Given the description of an element on the screen output the (x, y) to click on. 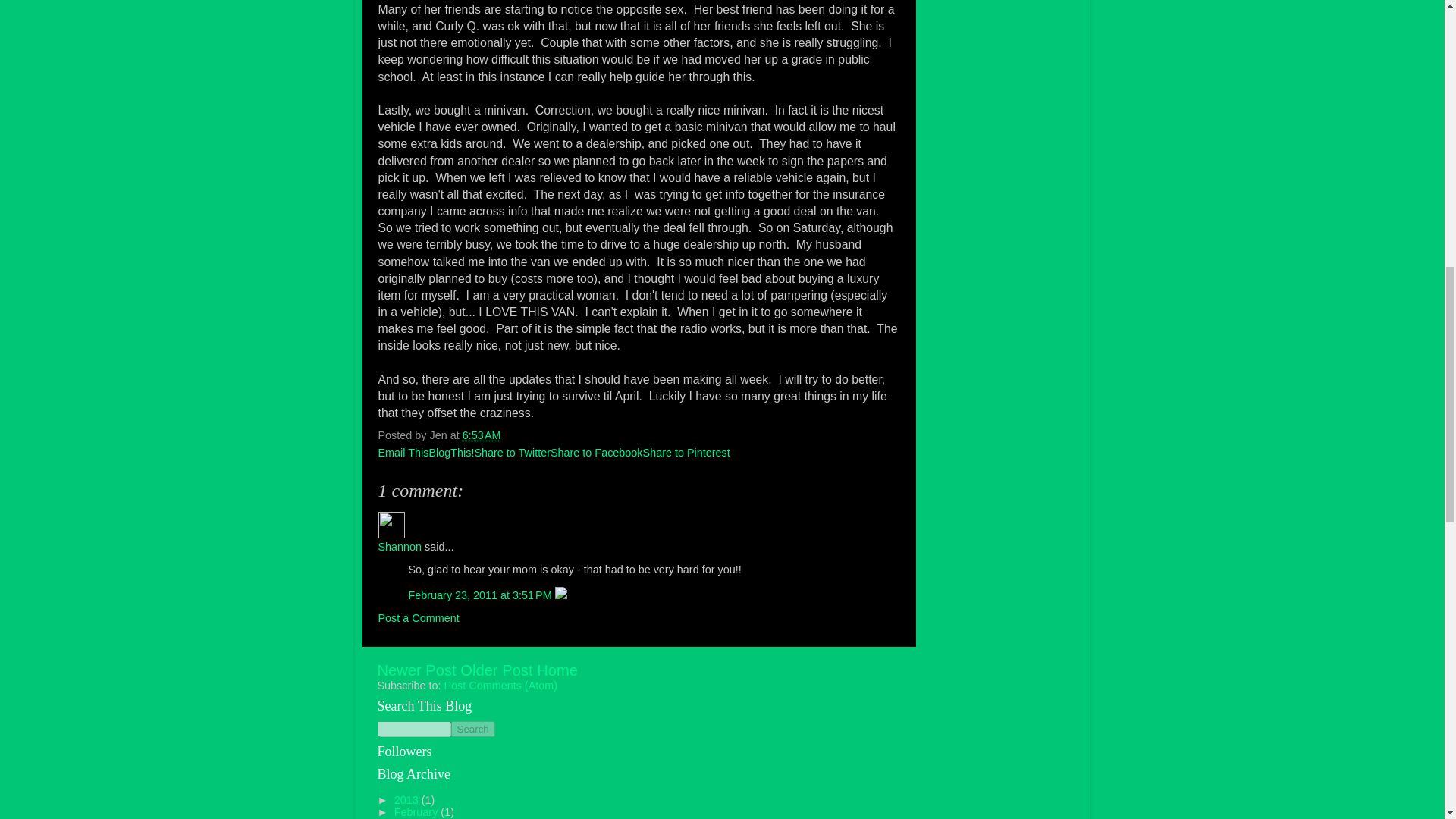
Post a Comment (417, 617)
BlogThis! (451, 452)
Share to Twitter (512, 452)
Newer Post (417, 669)
Shannon (390, 524)
Search (472, 729)
Shannon (399, 546)
BlogThis! (451, 452)
Email This (402, 452)
Older Post (496, 669)
Share to Facebook (596, 452)
Newer Post (417, 669)
comment permalink (480, 594)
